Given the description of an element on the screen output the (x, y) to click on. 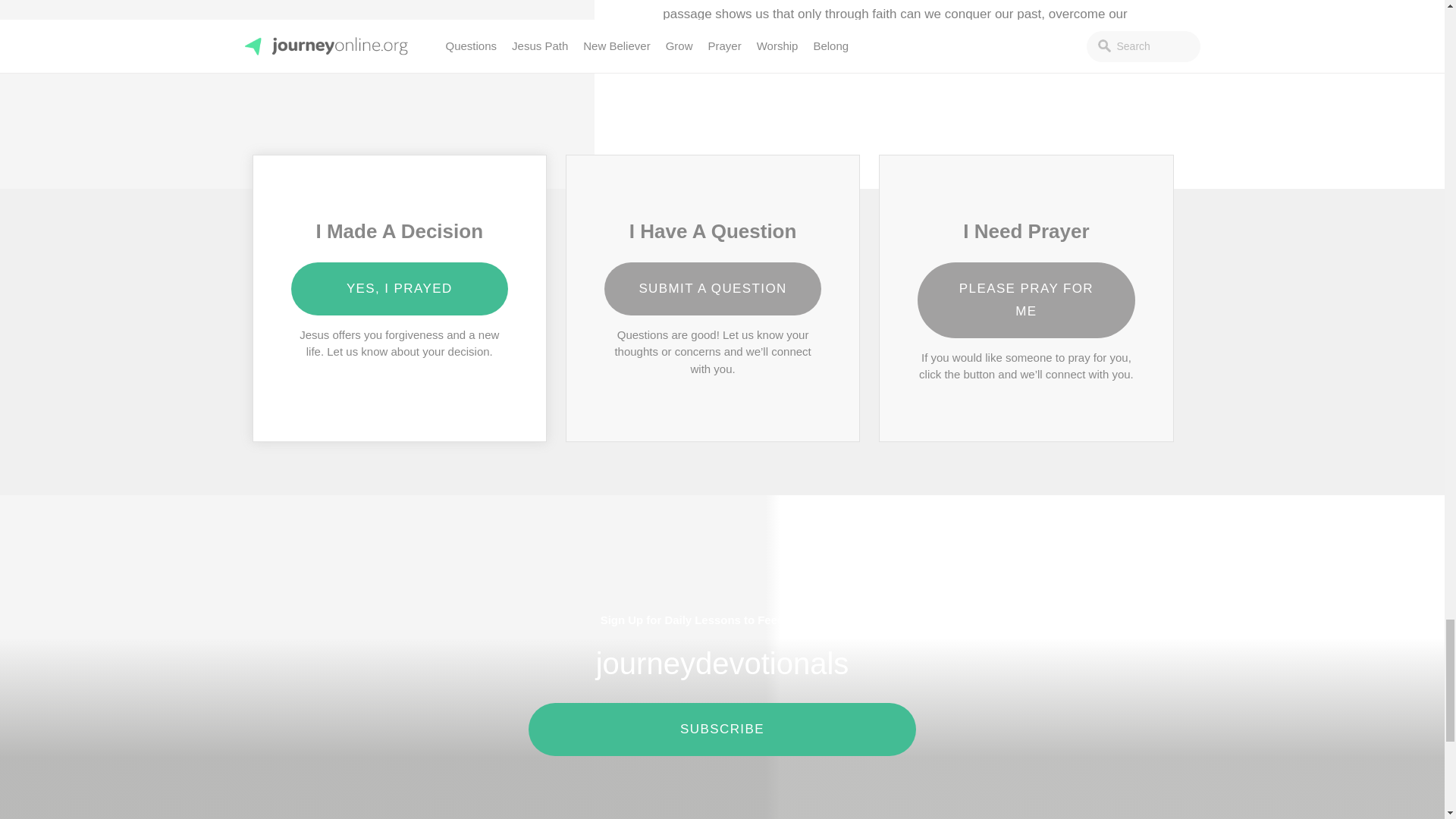
SUBSCRIBE (722, 728)
YES, I PRAYED (399, 288)
PLEASE PRAY FOR ME (1026, 300)
SUBMIT A QUESTION (713, 288)
